Given the description of an element on the screen output the (x, y) to click on. 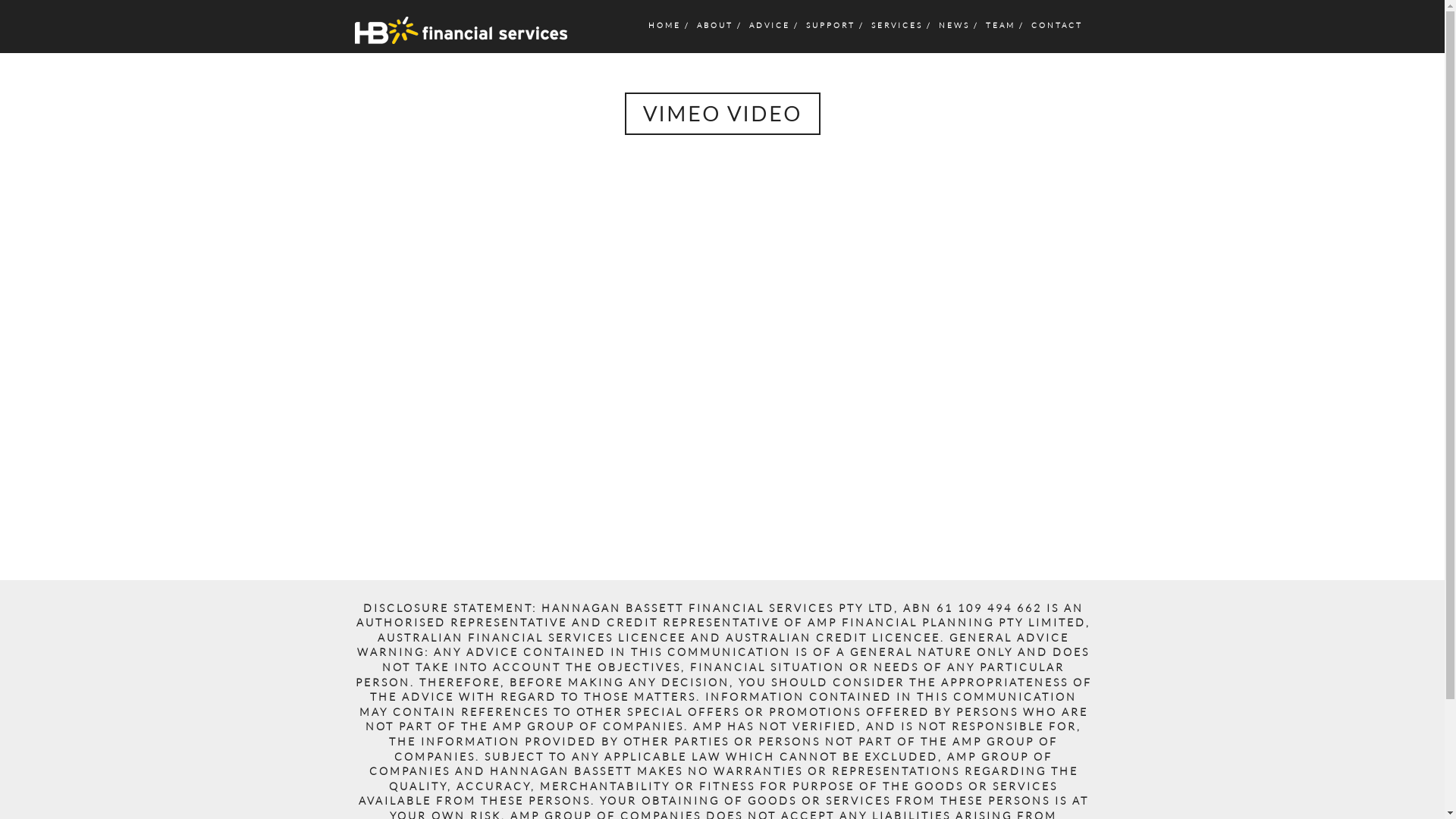
CONTACT Element type: text (1055, 23)
SERVICES / Element type: text (900, 23)
ABOUT / Element type: text (718, 23)
TEAM / Element type: text (1003, 23)
NEWS / Element type: text (957, 23)
HOME / Element type: text (667, 23)
ADVICE / Element type: text (773, 23)
SUPPORT / Element type: text (834, 23)
